Given the description of an element on the screen output the (x, y) to click on. 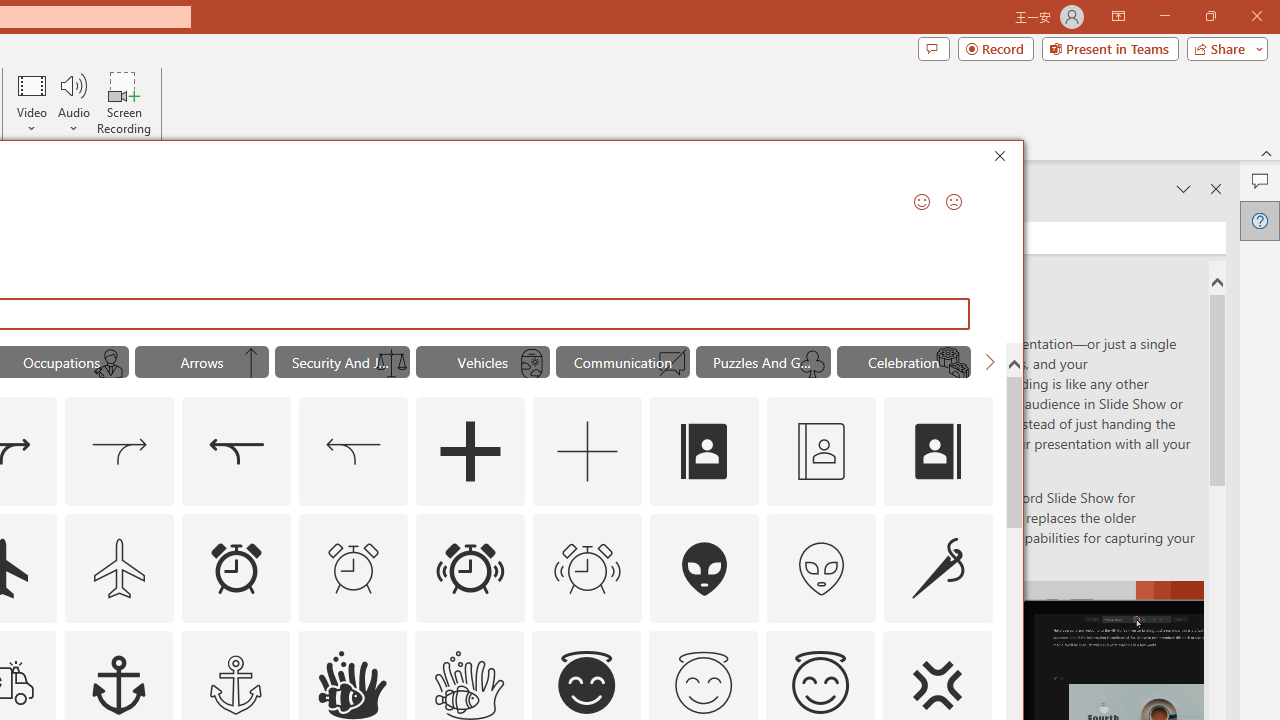
AutomationID: Icons_AlarmClock (236, 568)
AutomationID: Icons_Add (470, 452)
AutomationID: Icons_ArrowUp_M (250, 364)
AutomationID: Icons_AlarmRinging (470, 568)
AutomationID: Icons_Airplane_M (120, 568)
AutomationID: Icons (703, 683)
